Given the description of an element on the screen output the (x, y) to click on. 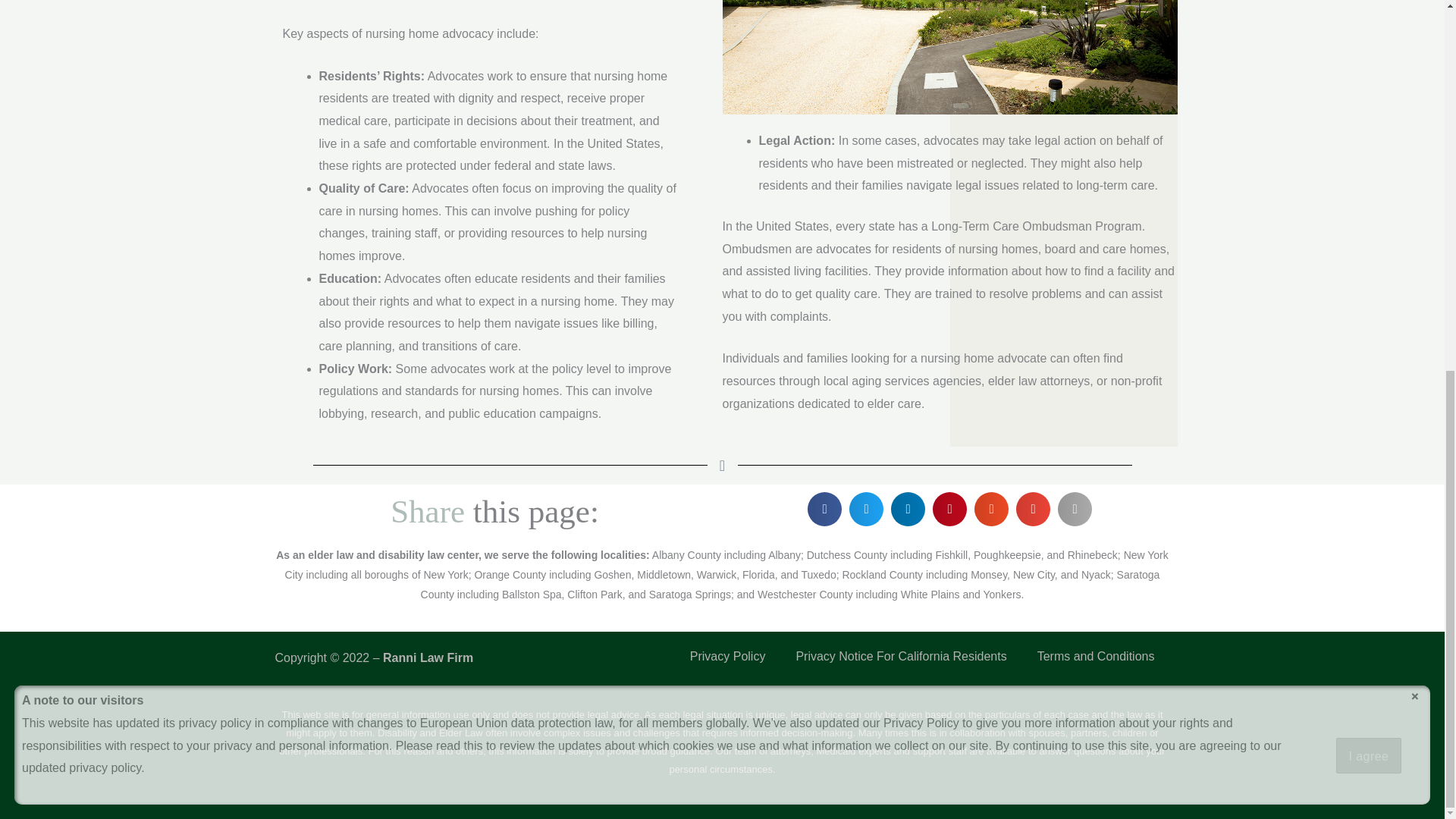
I agree (1369, 81)
Privacy Policy (727, 656)
Terms and Conditions (1096, 656)
Nursing-Home - Ranni Law Firm, PLLC - Ranni Law Firm, PLLC (949, 57)
Privacy Notice For California Residents (901, 656)
